Given the description of an element on the screen output the (x, y) to click on. 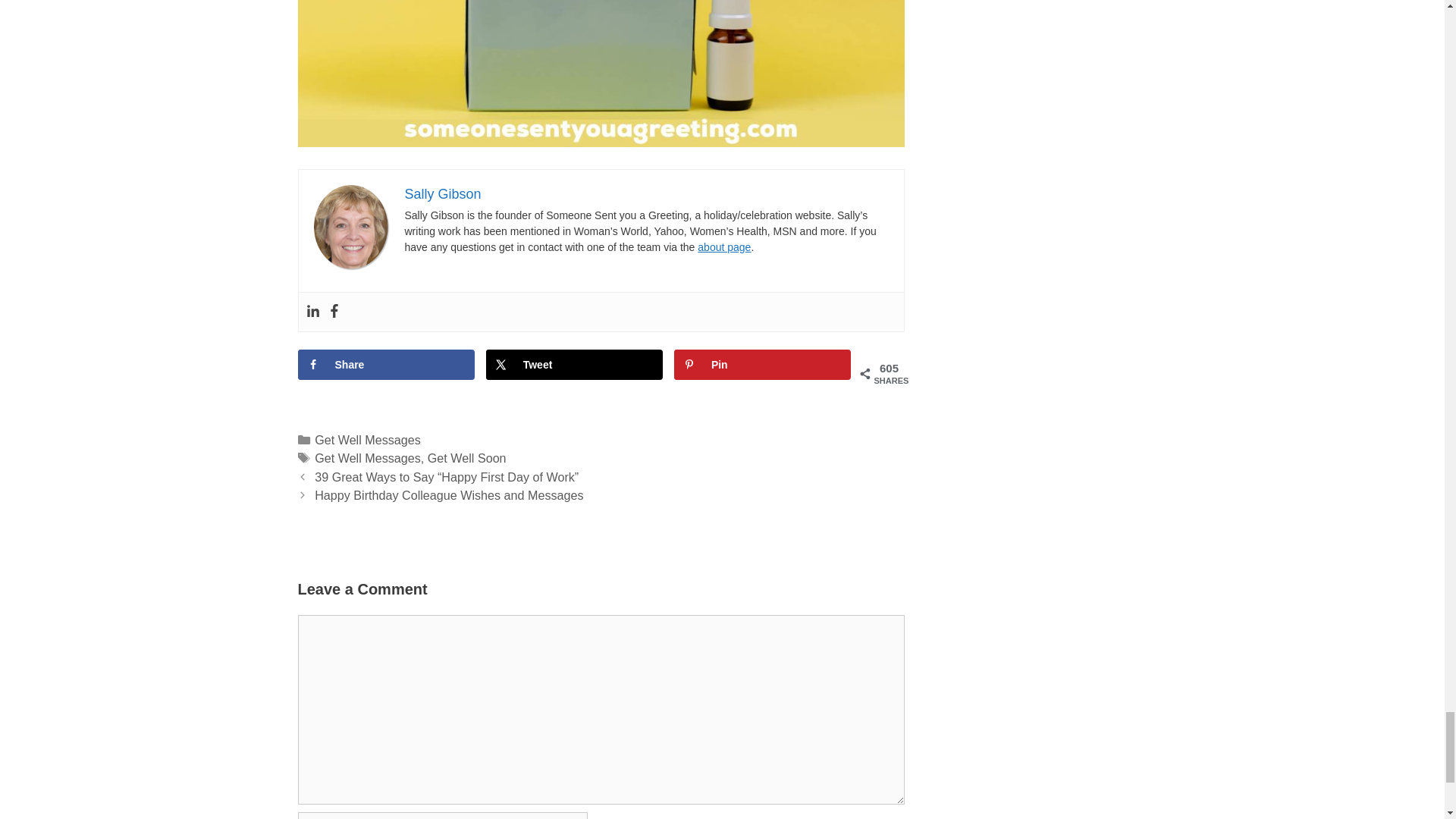
Linkedin (312, 311)
Save to Pinterest (762, 364)
Share on Facebook (385, 364)
Share on X (574, 364)
Facebook (333, 311)
